Given the description of an element on the screen output the (x, y) to click on. 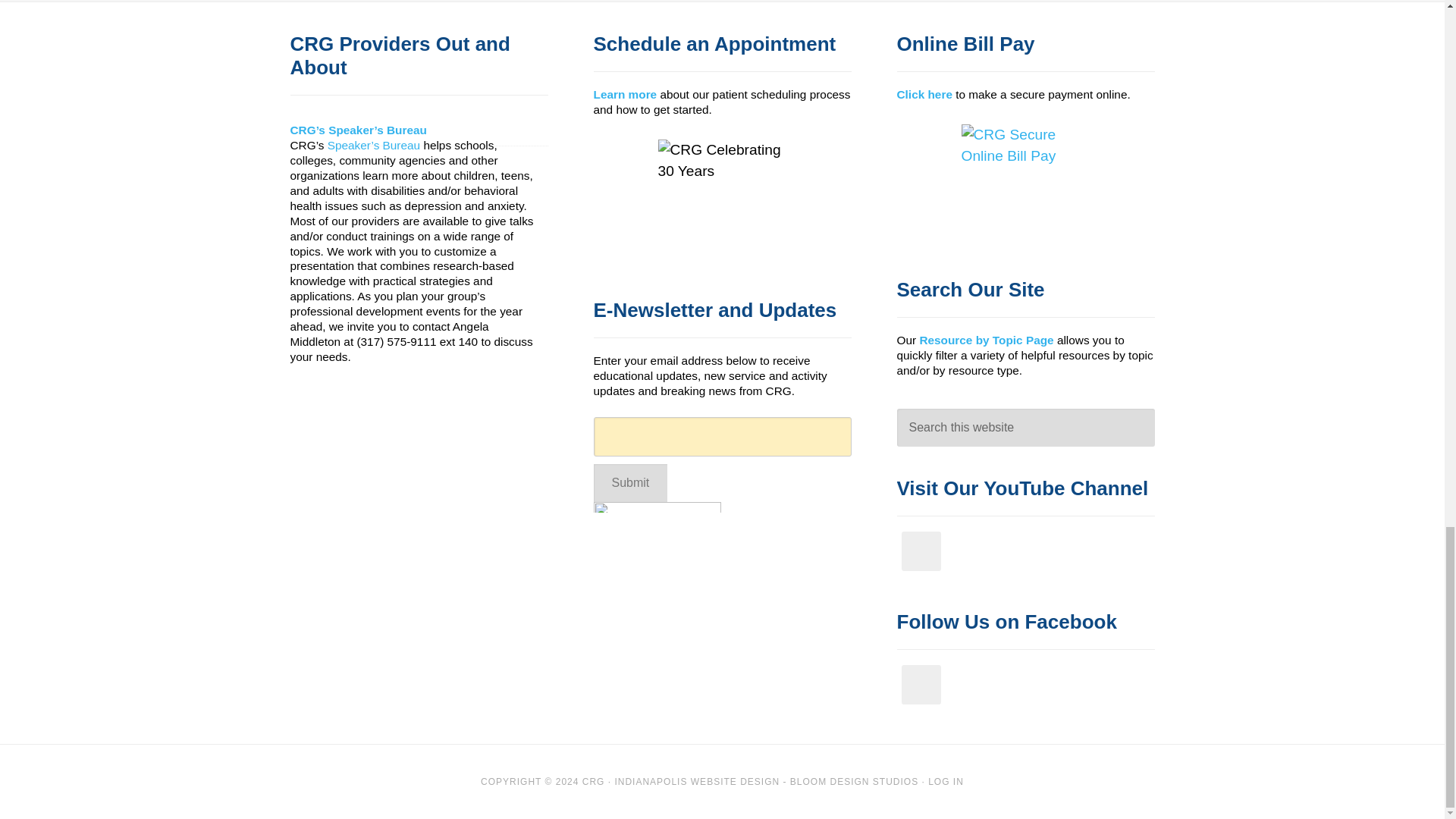
Click to view all CRG Resources  (985, 338)
CRG Celebrating 30 Years (722, 201)
Indianapolis Website Design - Bloom Design Studios (766, 781)
Submit (629, 483)
Pay Your CRG Bill Online (1025, 184)
